Given the description of an element on the screen output the (x, y) to click on. 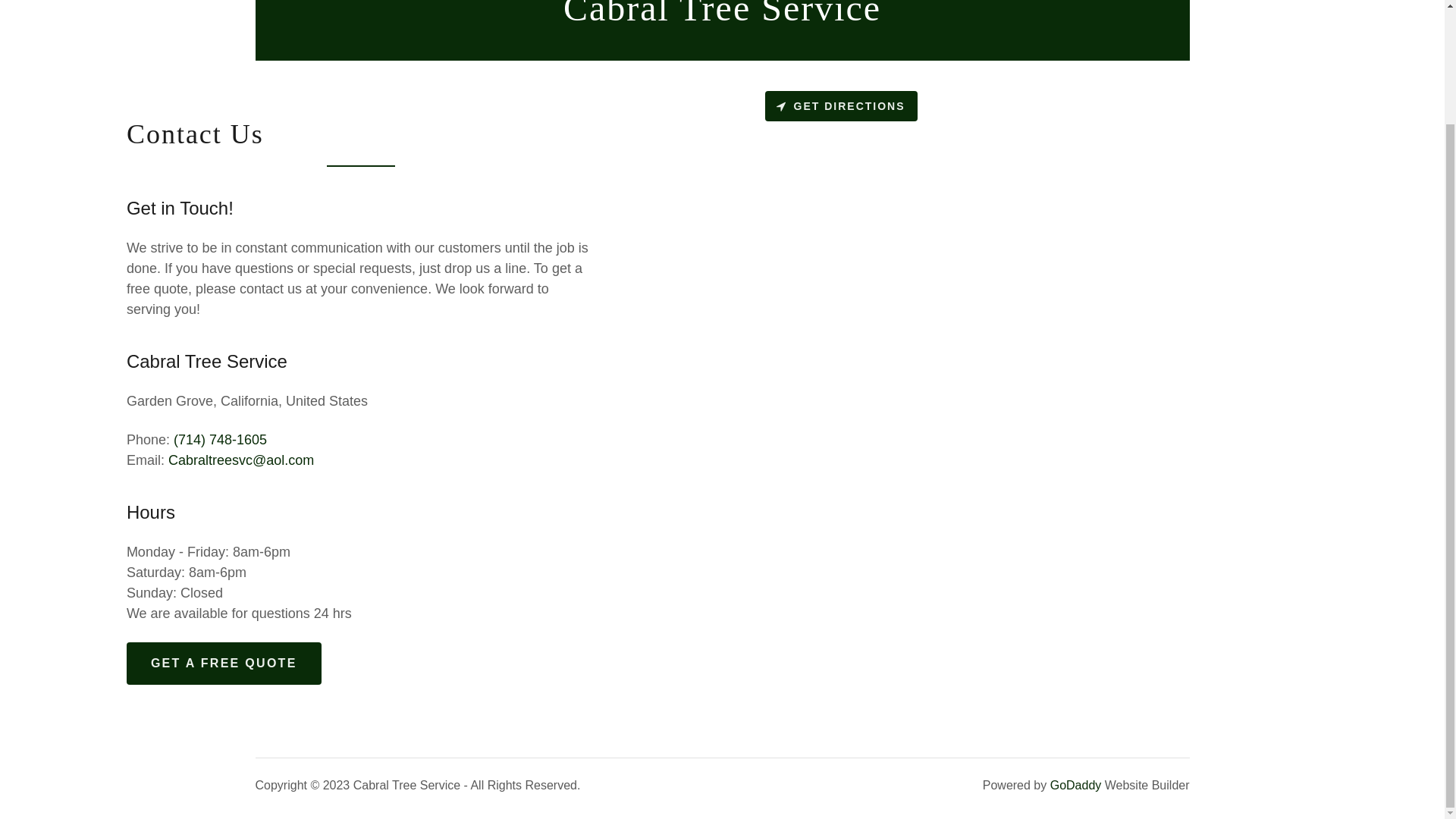
GET DIRECTIONS (840, 105)
GET A FREE QUOTE (223, 663)
GoDaddy (1075, 784)
Cabral Tree Service (721, 15)
Cabral Tree Service (721, 15)
